Given the description of an element on the screen output the (x, y) to click on. 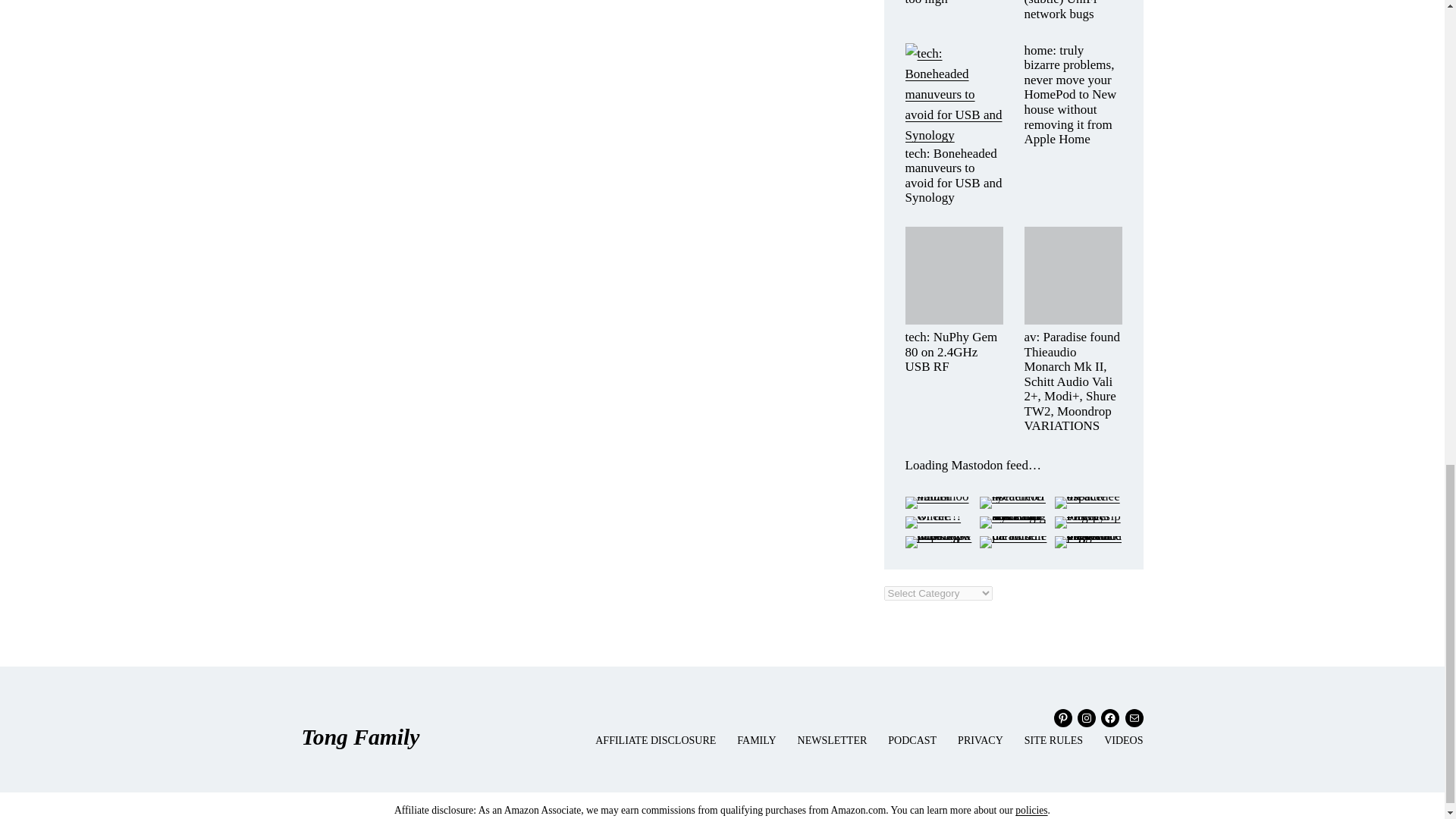
tech: Boneheaded manuveurs to avoid for USB and Synology (954, 175)
net: On UniFi, do not turn up RSSI too high (954, 3)
